Given the description of an element on the screen output the (x, y) to click on. 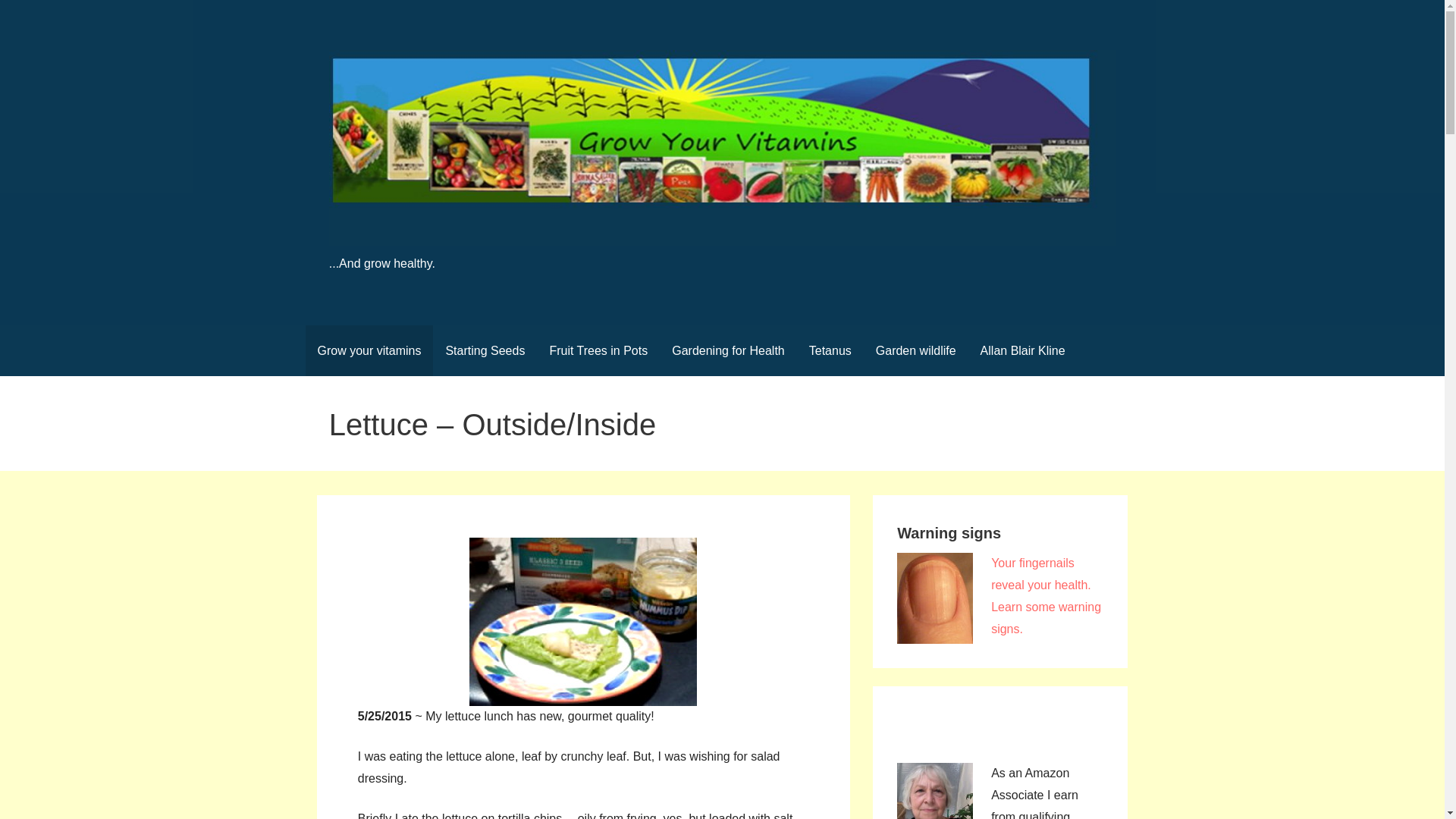
Fruit Trees in Pots (598, 350)
Starting Seeds (484, 350)
Grow your vitamins (368, 350)
